Given the description of an element on the screen output the (x, y) to click on. 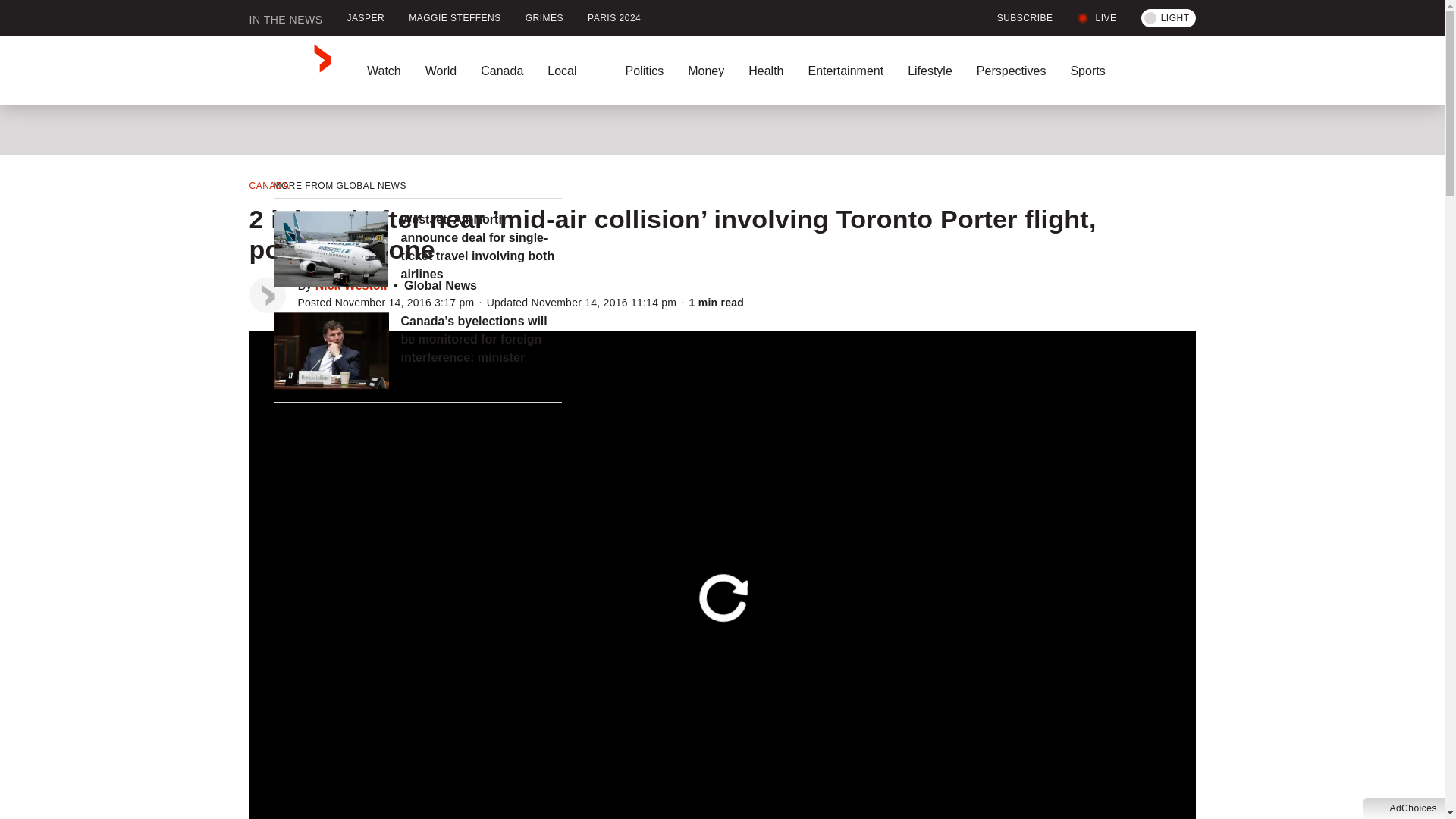
MAGGIE STEFFENS (454, 18)
GRIMES (544, 18)
Local (573, 70)
Entertainment (844, 70)
JASPER (365, 18)
GlobalNews home (289, 70)
Posts by Nick Westoll (351, 285)
LIVE (1096, 18)
Lifestyle (929, 70)
Politics (643, 70)
SUBSCRIBE (1015, 18)
PARIS 2024 (613, 18)
Perspectives (1010, 70)
